Given the description of an element on the screen output the (x, y) to click on. 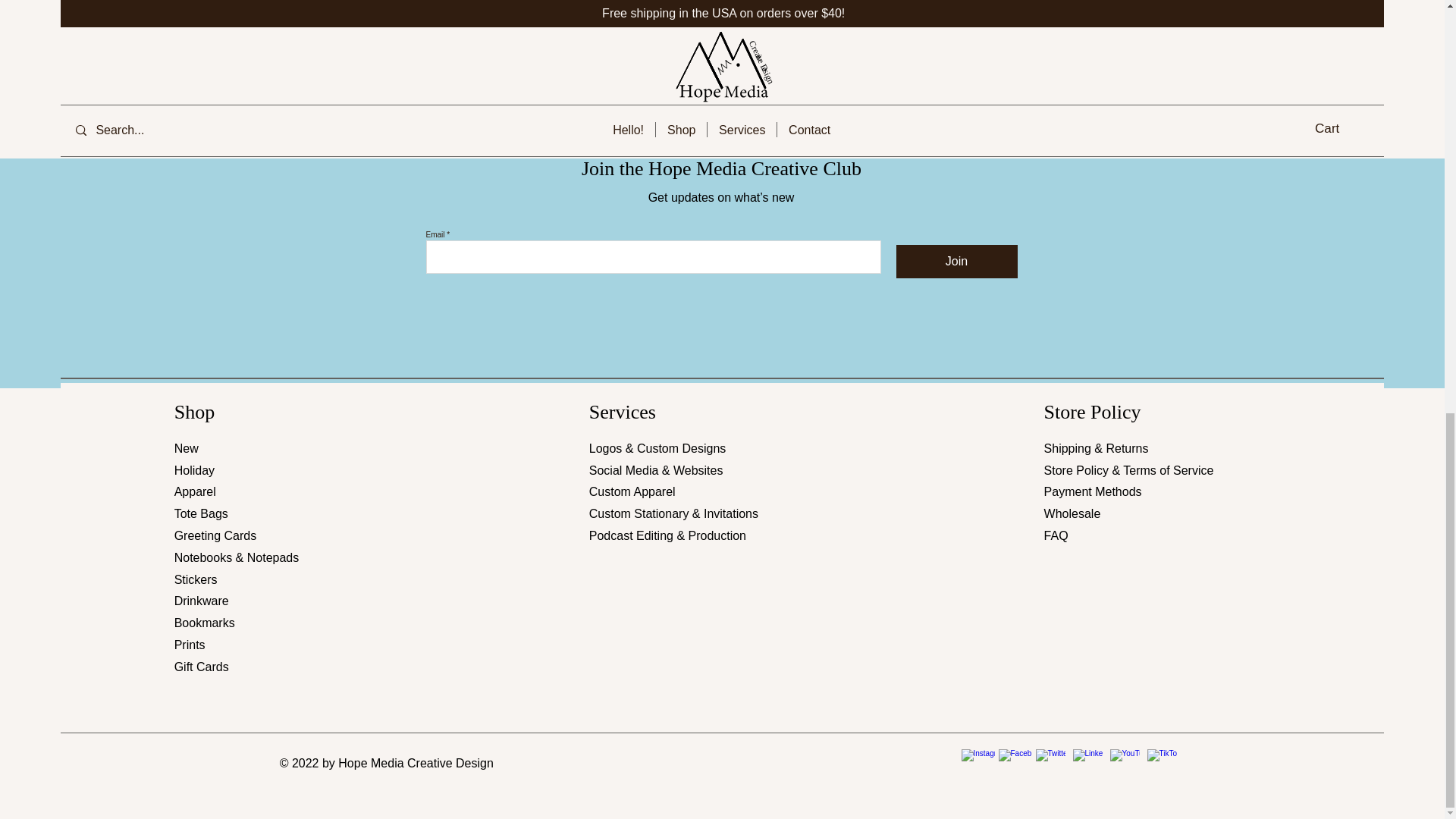
Holiday (194, 470)
Join (956, 261)
New (186, 448)
